Given the description of an element on the screen output the (x, y) to click on. 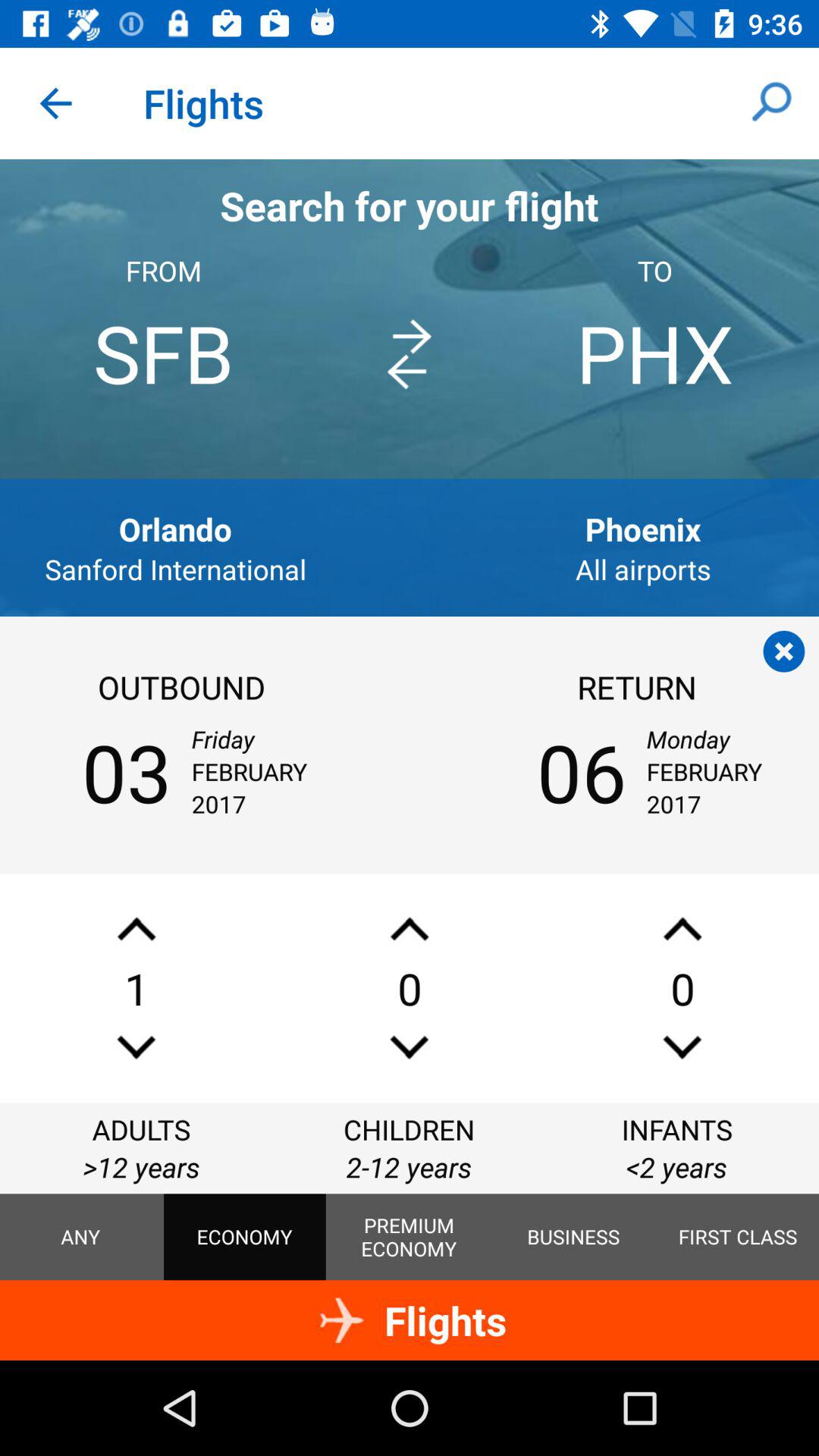
add children for flight (409, 928)
